Given the description of an element on the screen output the (x, y) to click on. 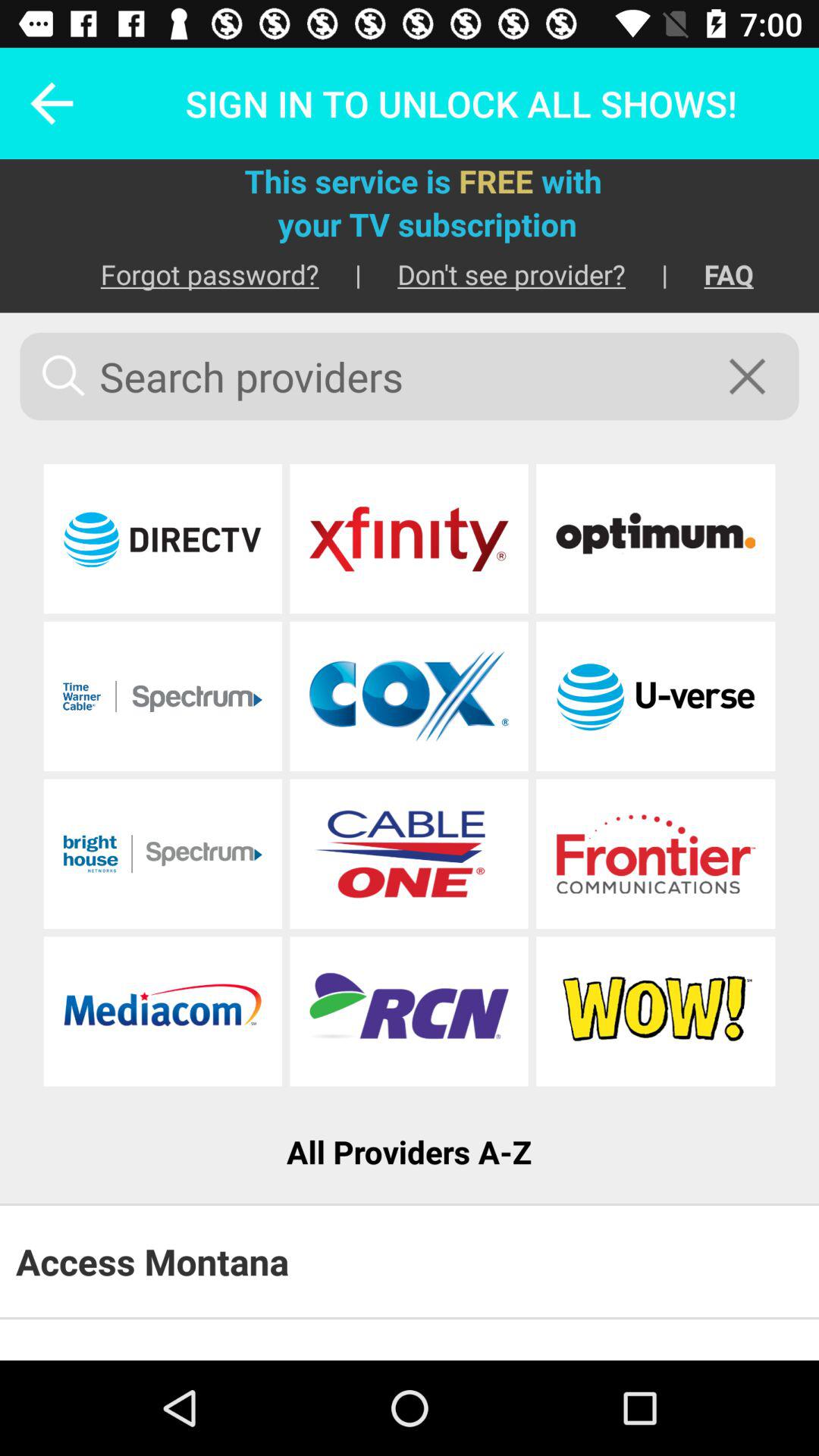
select provider mediacom (162, 1011)
